Given the description of an element on the screen output the (x, y) to click on. 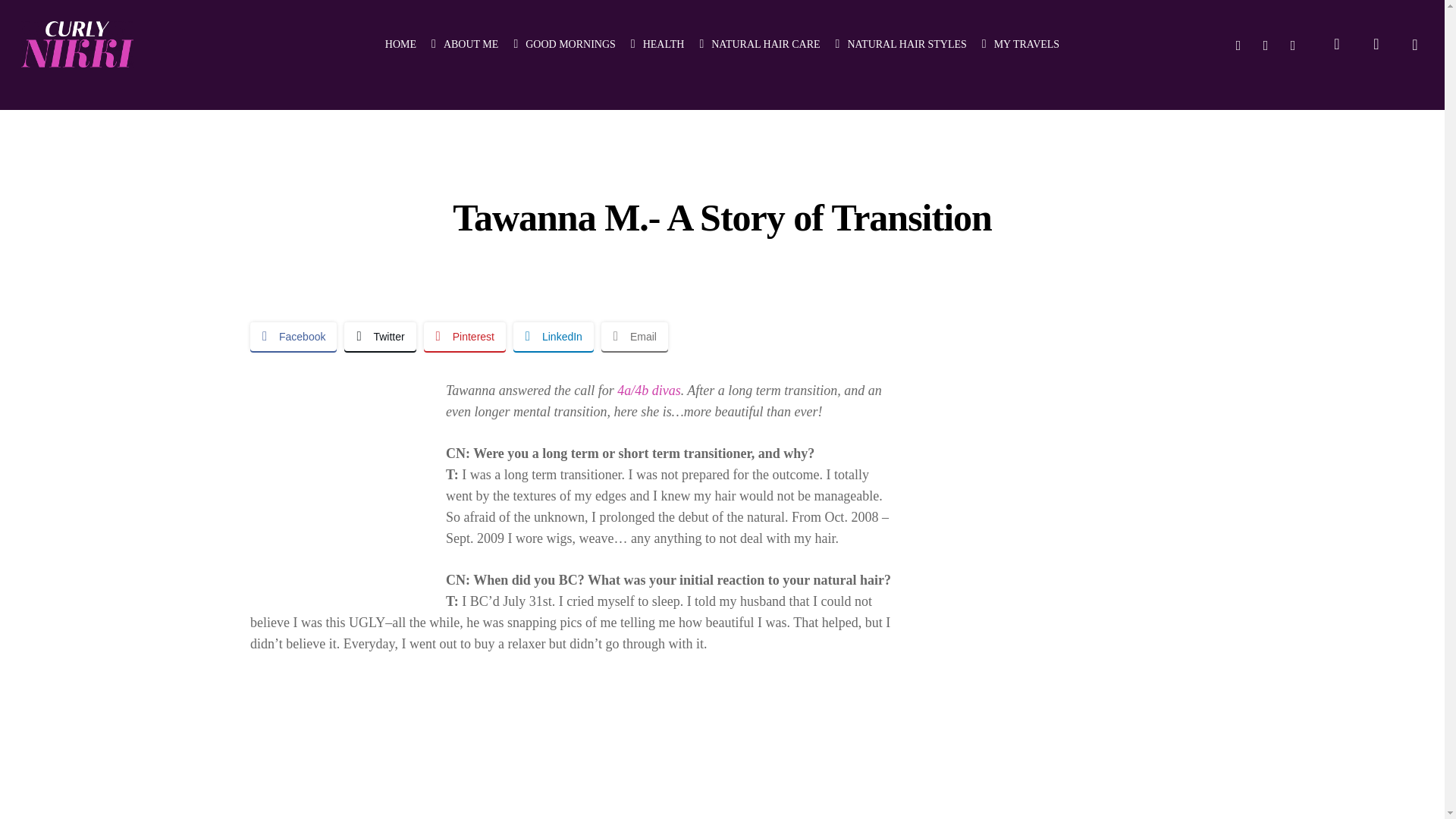
NATURAL HAIR CARE (758, 44)
NATURAL HAIR STYLES (900, 44)
ABOUT ME (463, 44)
HOME (400, 44)
GOOD MORNINGS (563, 44)
HEALTH (657, 44)
